Given the description of an element on the screen output the (x, y) to click on. 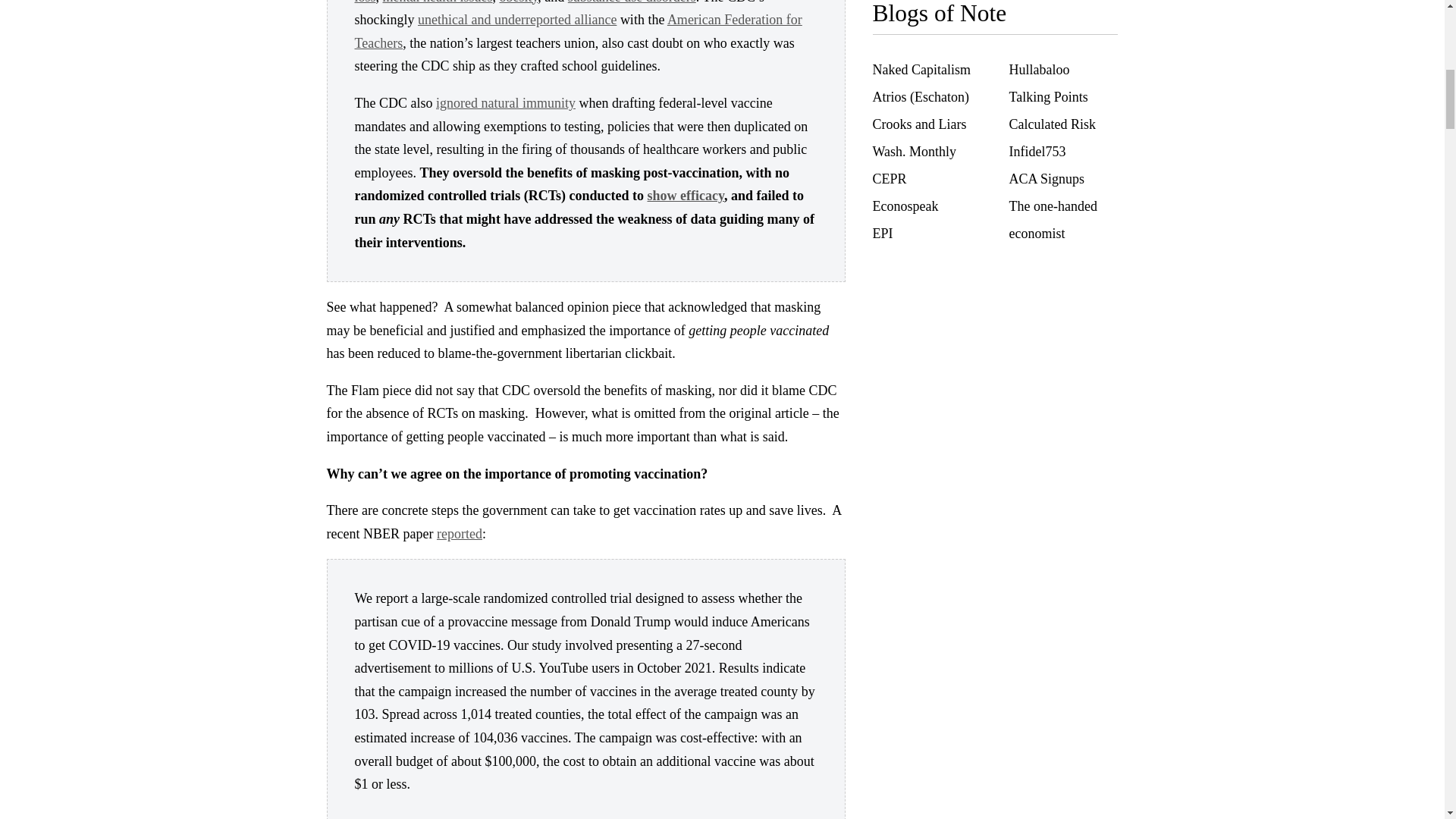
substance use disorders (631, 2)
unethical and underreported alliance (516, 19)
obesity (518, 2)
reported (458, 533)
ignored natural immunity (505, 102)
mental health issues (437, 2)
show efficacy (685, 195)
American Federation for Teachers (578, 31)
